Given the description of an element on the screen output the (x, y) to click on. 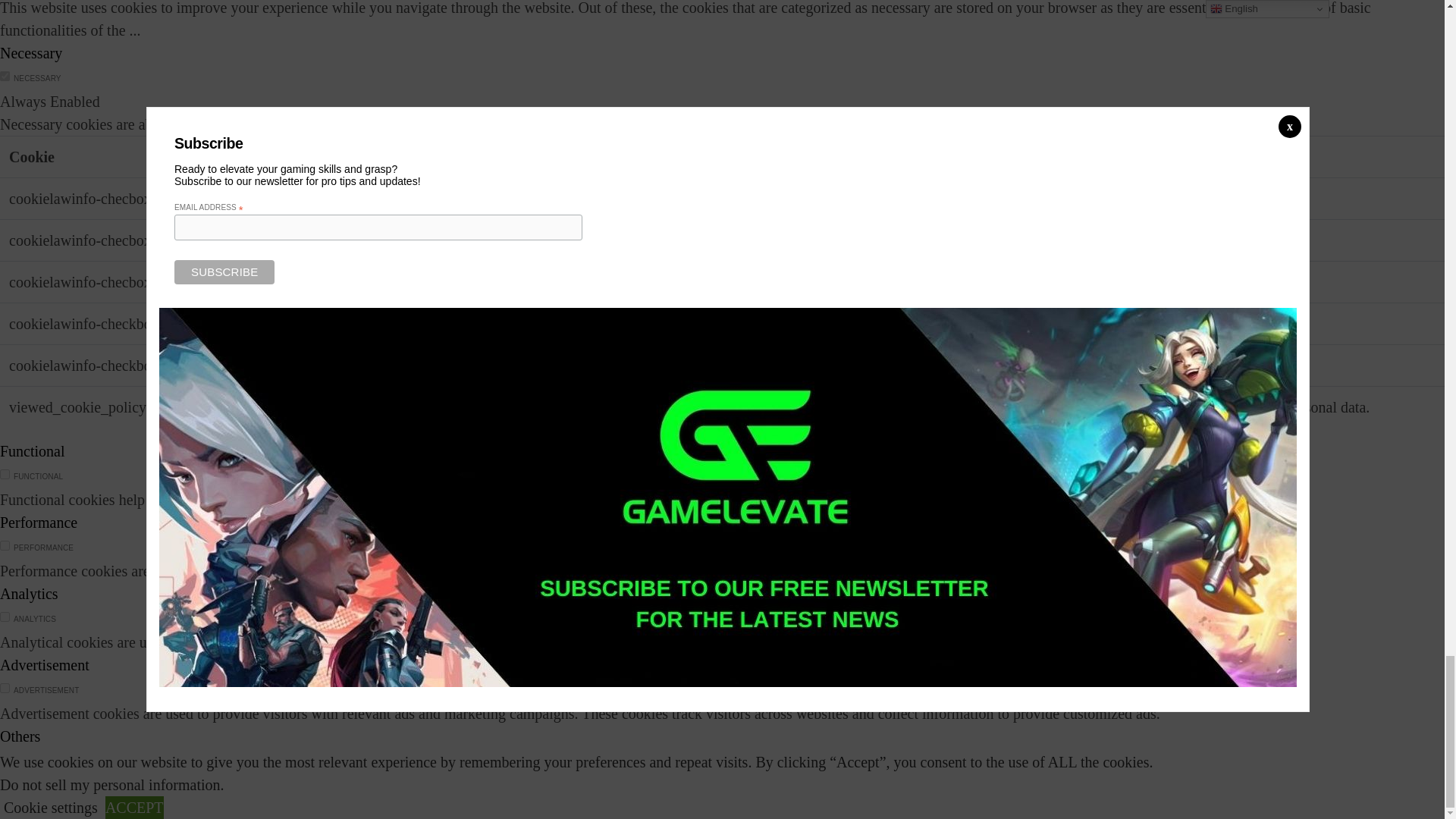
on (5, 687)
on (5, 616)
on (5, 545)
on (5, 759)
on (5, 474)
on (5, 76)
